Given the description of an element on the screen output the (x, y) to click on. 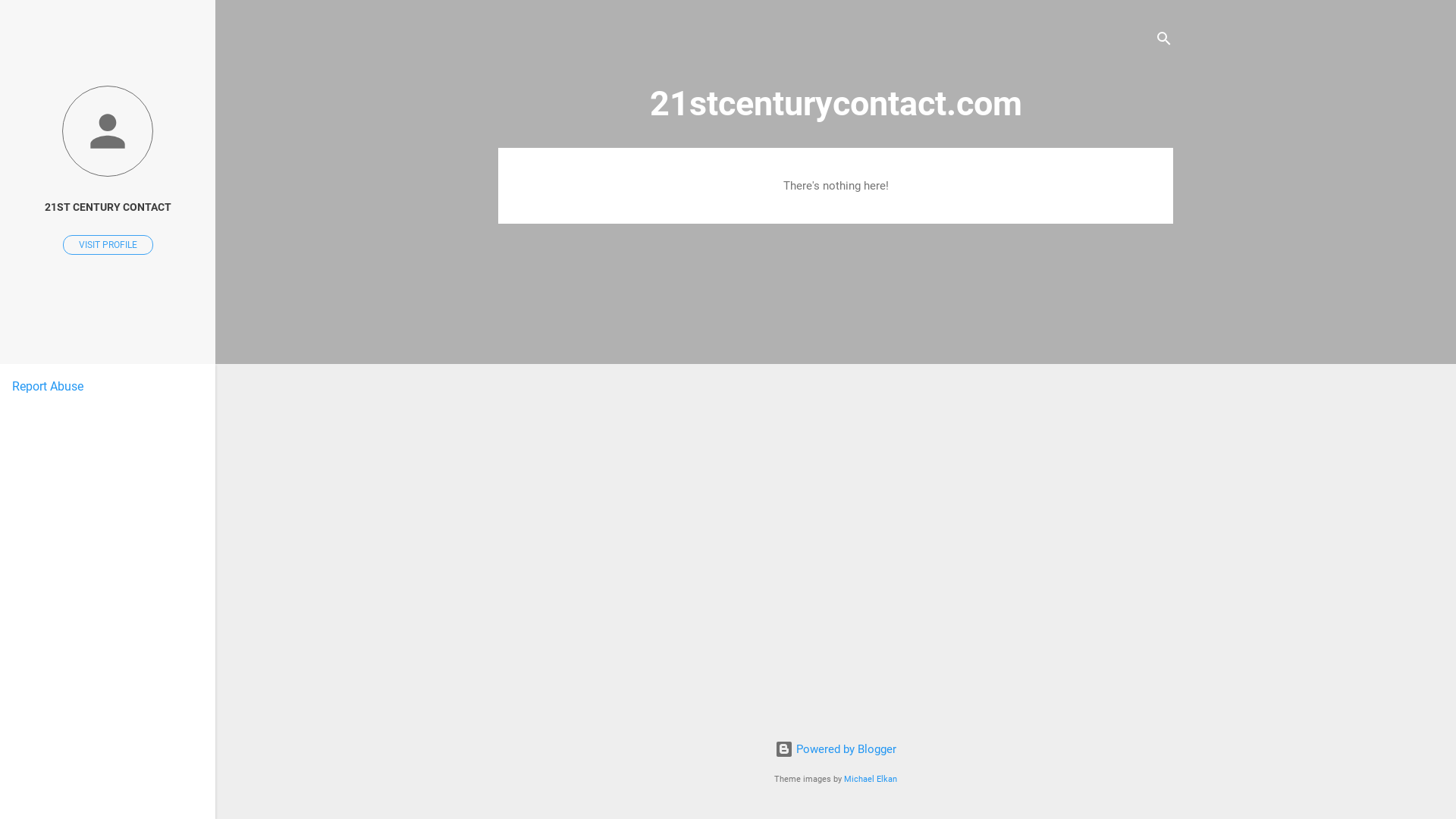
Search Element type: text (28, 18)
Report Abuse Element type: text (47, 386)
21ST CENTURY CONTACT Element type: text (107, 207)
Powered by Blogger Element type: text (835, 749)
VISIT PROFILE Element type: text (107, 244)
Michael Elkan Element type: text (870, 779)
